Given the description of an element on the screen output the (x, y) to click on. 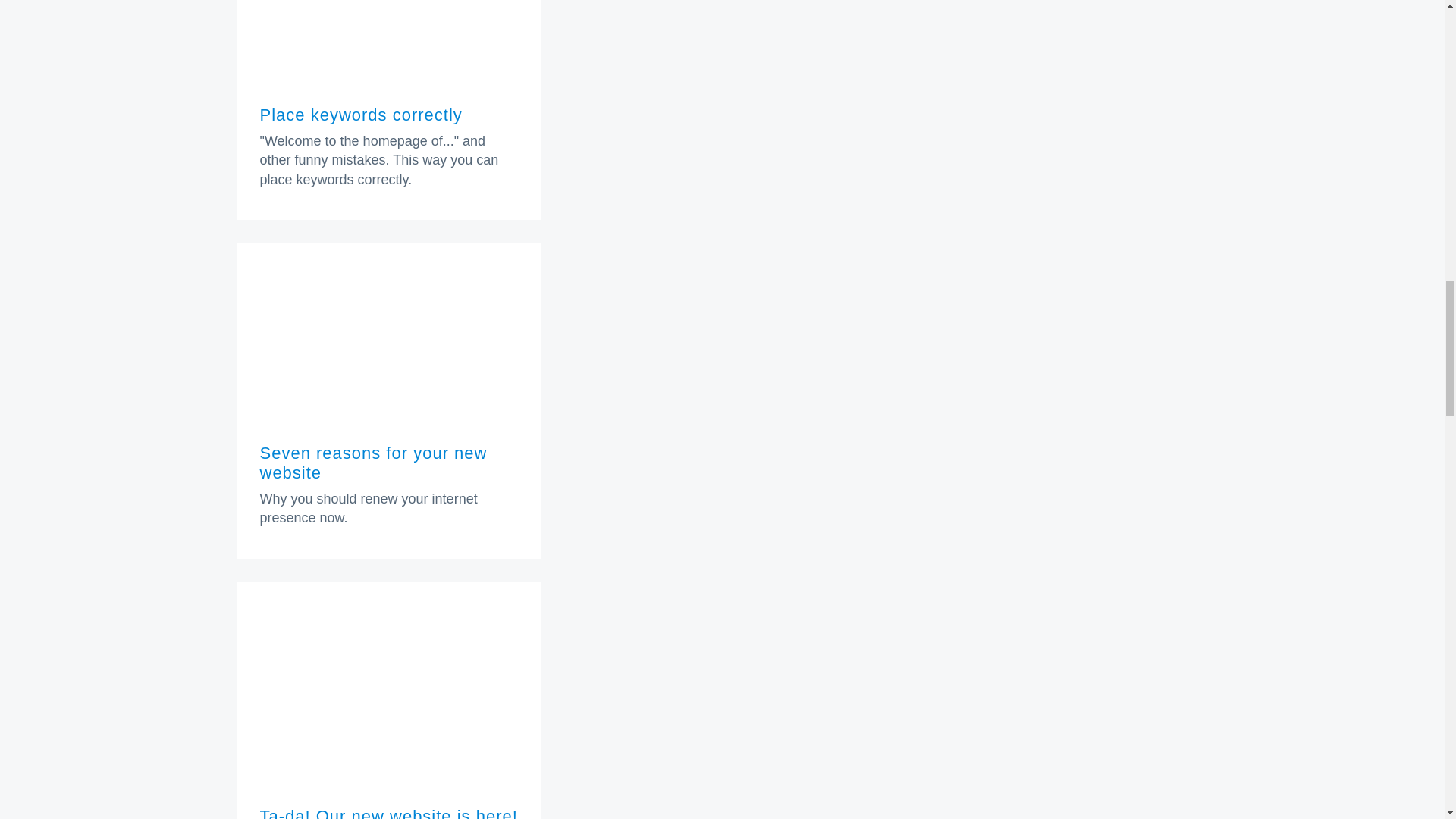
Place keywords correctly (360, 114)
Ta-da! Our new website is here! (387, 812)
Seven reasons for your new website (372, 462)
